Given the description of an element on the screen output the (x, y) to click on. 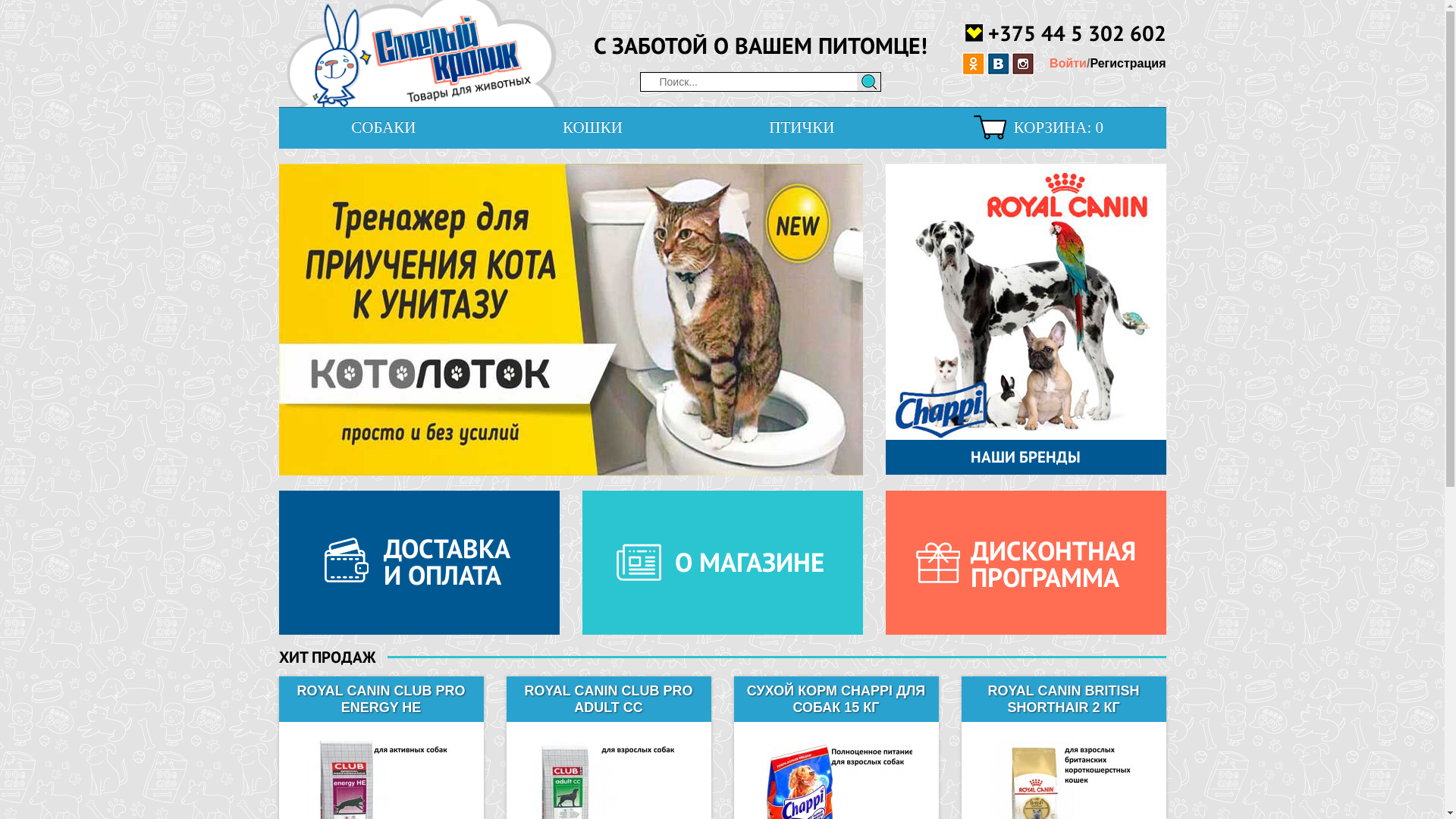
+375 44 5 302 602 Element type: text (1064, 31)
ROYAL CANIN CLUB PRO ADULT CC Element type: text (608, 698)
ROYAL CANIN CLUB PRO ENERGY HE Element type: text (380, 698)
